Given the description of an element on the screen output the (x, y) to click on. 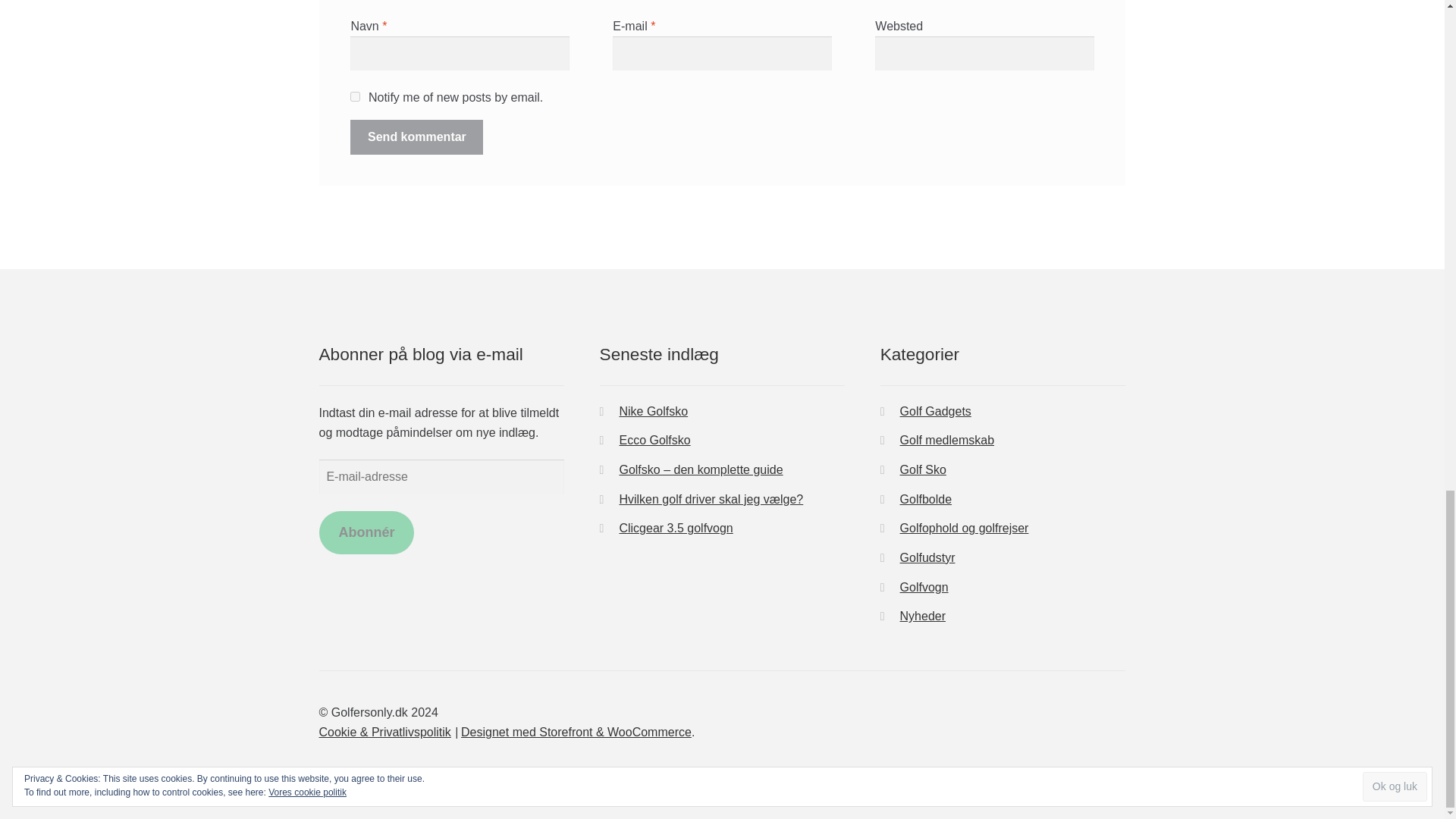
WooCommerce - Bedste e-handels platform til WordPress (576, 731)
subscribe (354, 96)
Send kommentar (416, 136)
